Given the description of an element on the screen output the (x, y) to click on. 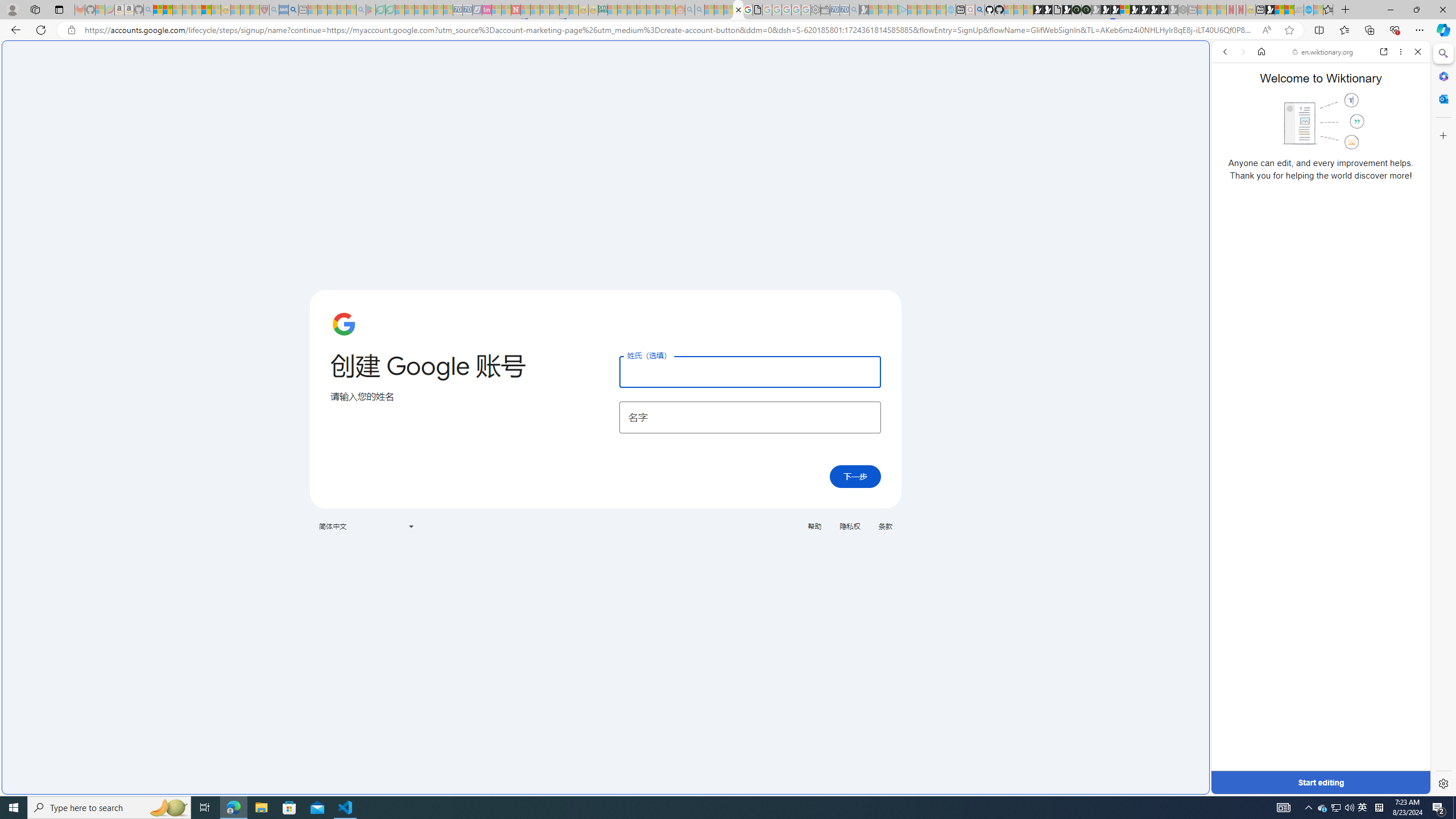
en.wiktionary.org (1323, 51)
